Given the description of an element on the screen output the (x, y) to click on. 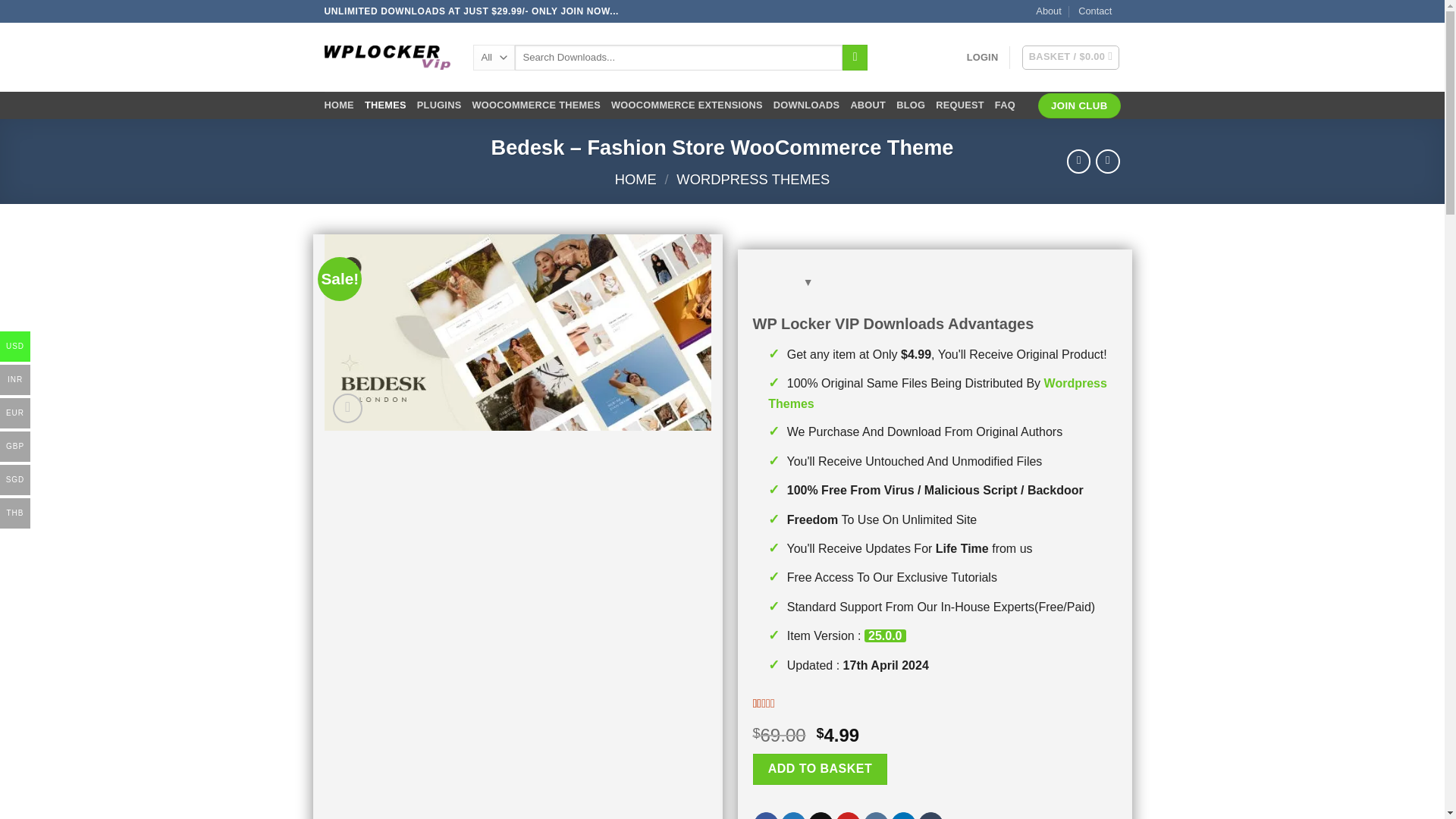
LOGIN (982, 57)
PLUGINS (438, 104)
WOOCOMMERCE EXTENSIONS (686, 104)
Basket (1070, 57)
Zoom (347, 408)
Contact (1095, 11)
About (1048, 11)
JOIN CLUB (1078, 105)
JOIN NOW (585, 10)
Share on Facebook (766, 815)
